Given the description of an element on the screen output the (x, y) to click on. 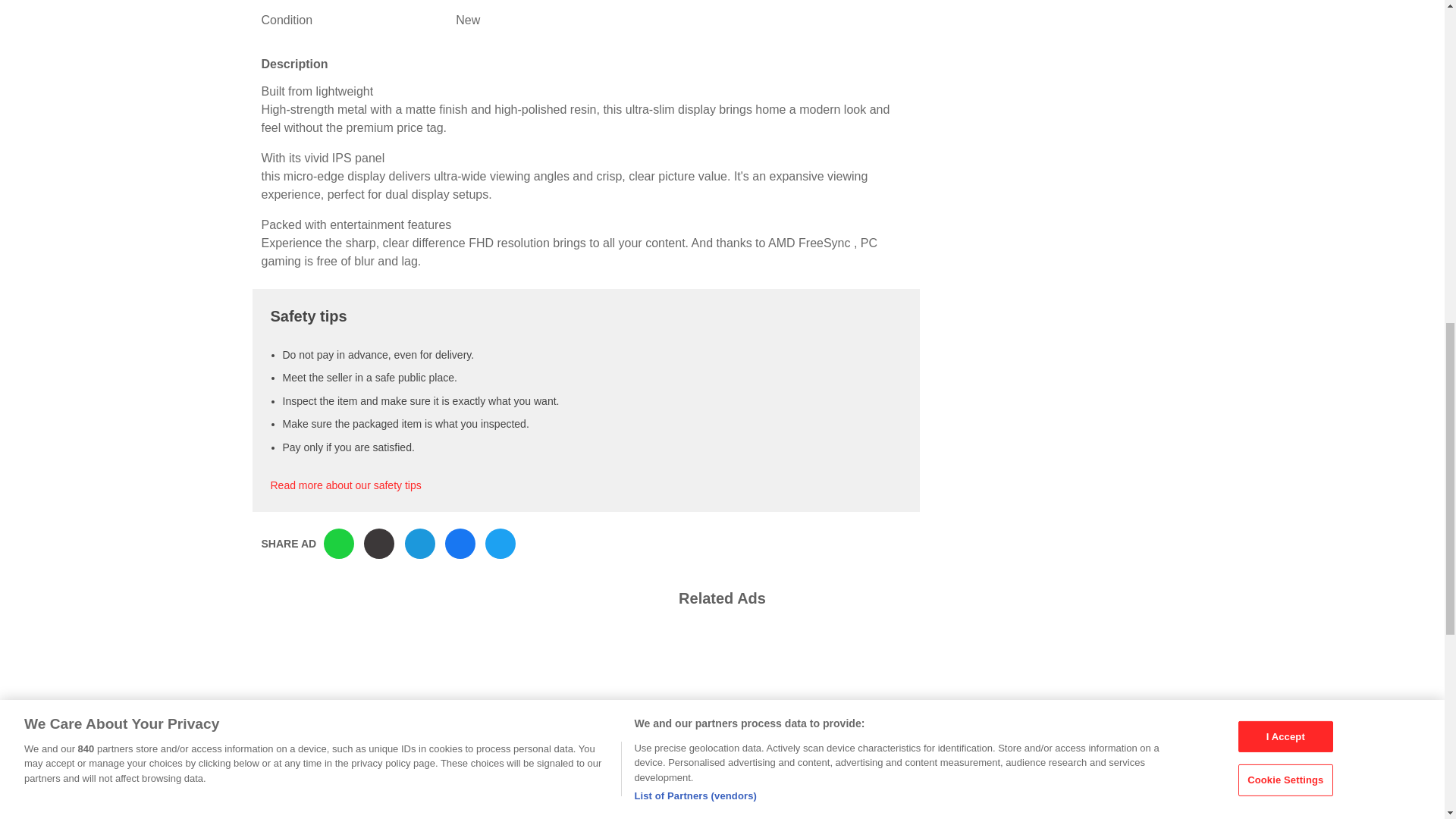
Share via Twitter (499, 543)
Copy link (379, 543)
Share via WhatsApp (338, 543)
Read more about our safety tips (344, 485)
Share via Email (419, 543)
Share via Facebook (460, 543)
